Given the description of an element on the screen output the (x, y) to click on. 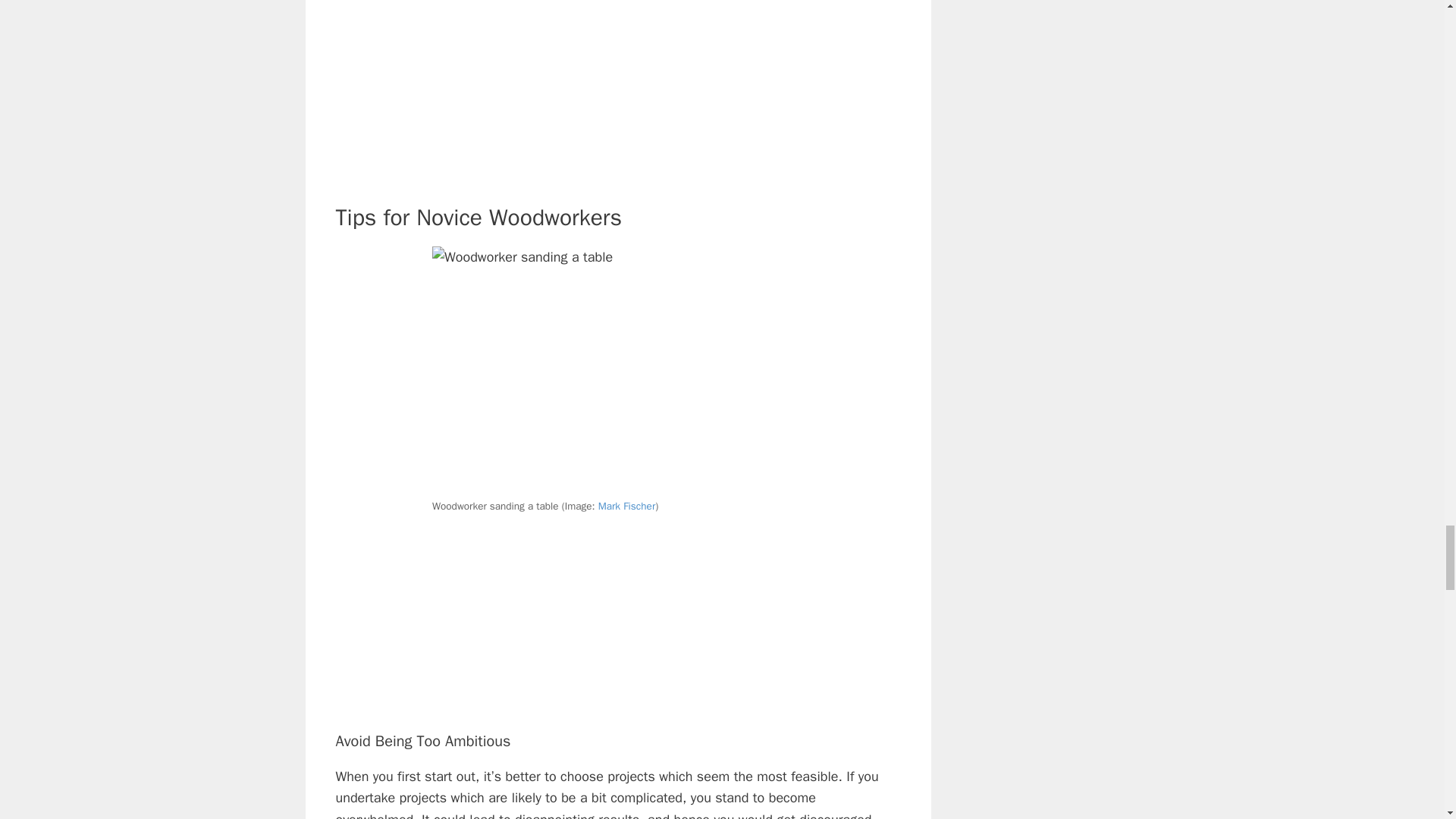
Mark Fischer (627, 505)
